Given the description of an element on the screen output the (x, y) to click on. 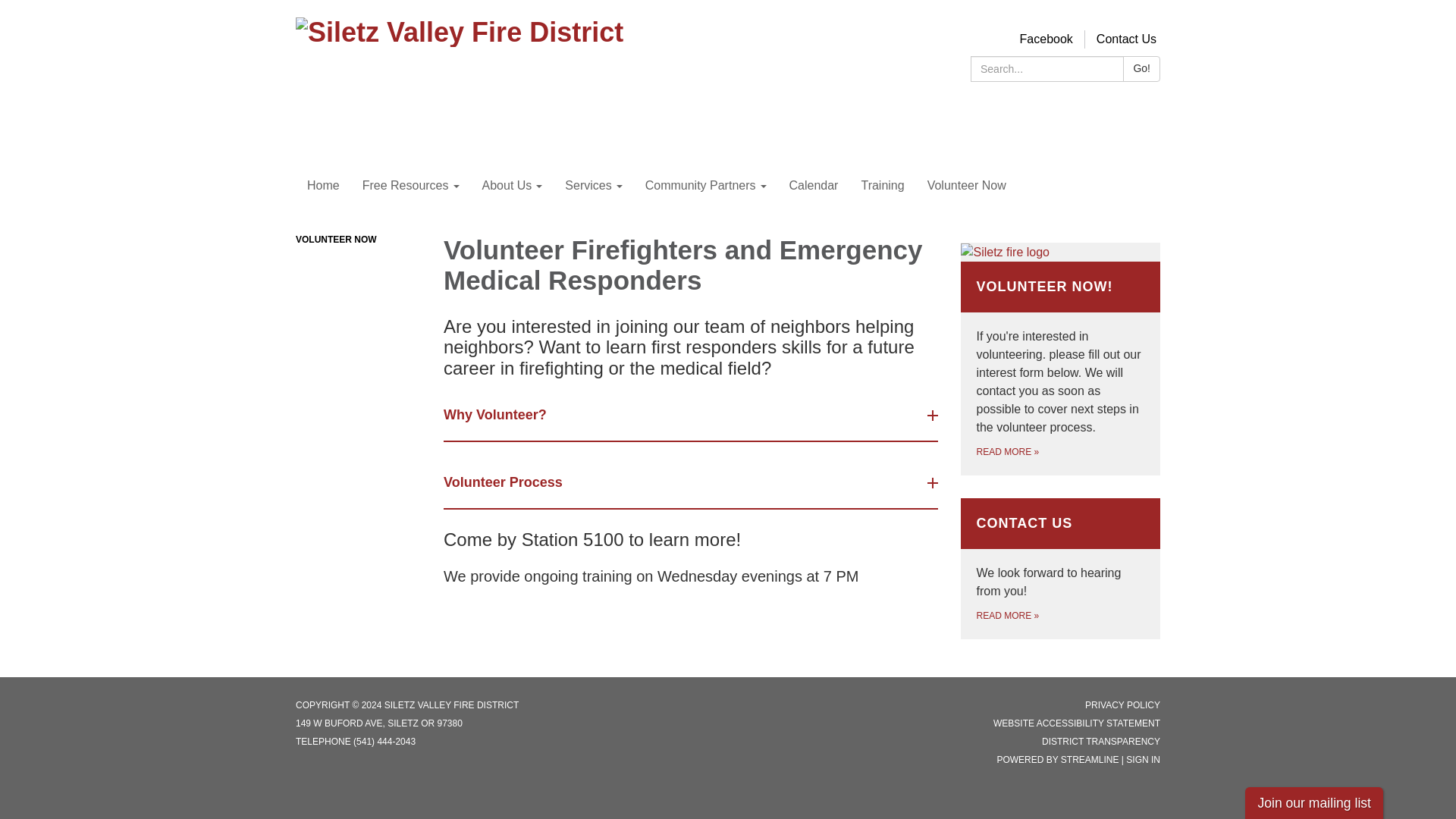
Calendar (807, 185)
Go! (1136, 68)
Home (317, 185)
Contact Us (1119, 38)
Training (877, 185)
Free Resources (404, 185)
Community Partners (699, 185)
About Us (506, 185)
Services (587, 185)
Facebook (1040, 38)
